Given the description of an element on the screen output the (x, y) to click on. 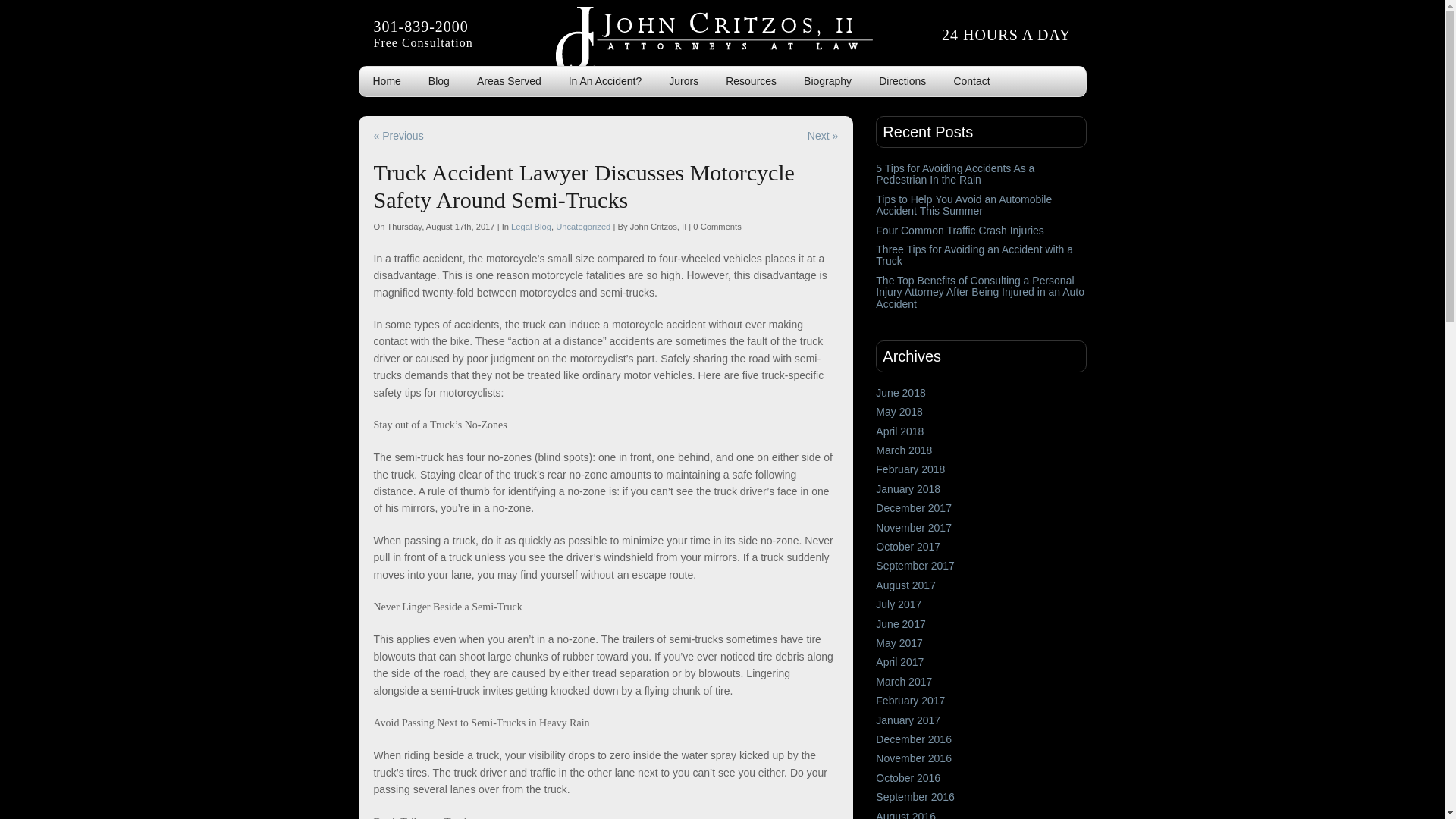
Areas Served (508, 81)
Biography (827, 81)
Blog (438, 81)
Directions (901, 81)
301-839-2000 (419, 26)
Uncategorized (583, 225)
Home (386, 81)
Contact (971, 81)
Jurors (683, 81)
Resources (750, 81)
